Given the description of an element on the screen output the (x, y) to click on. 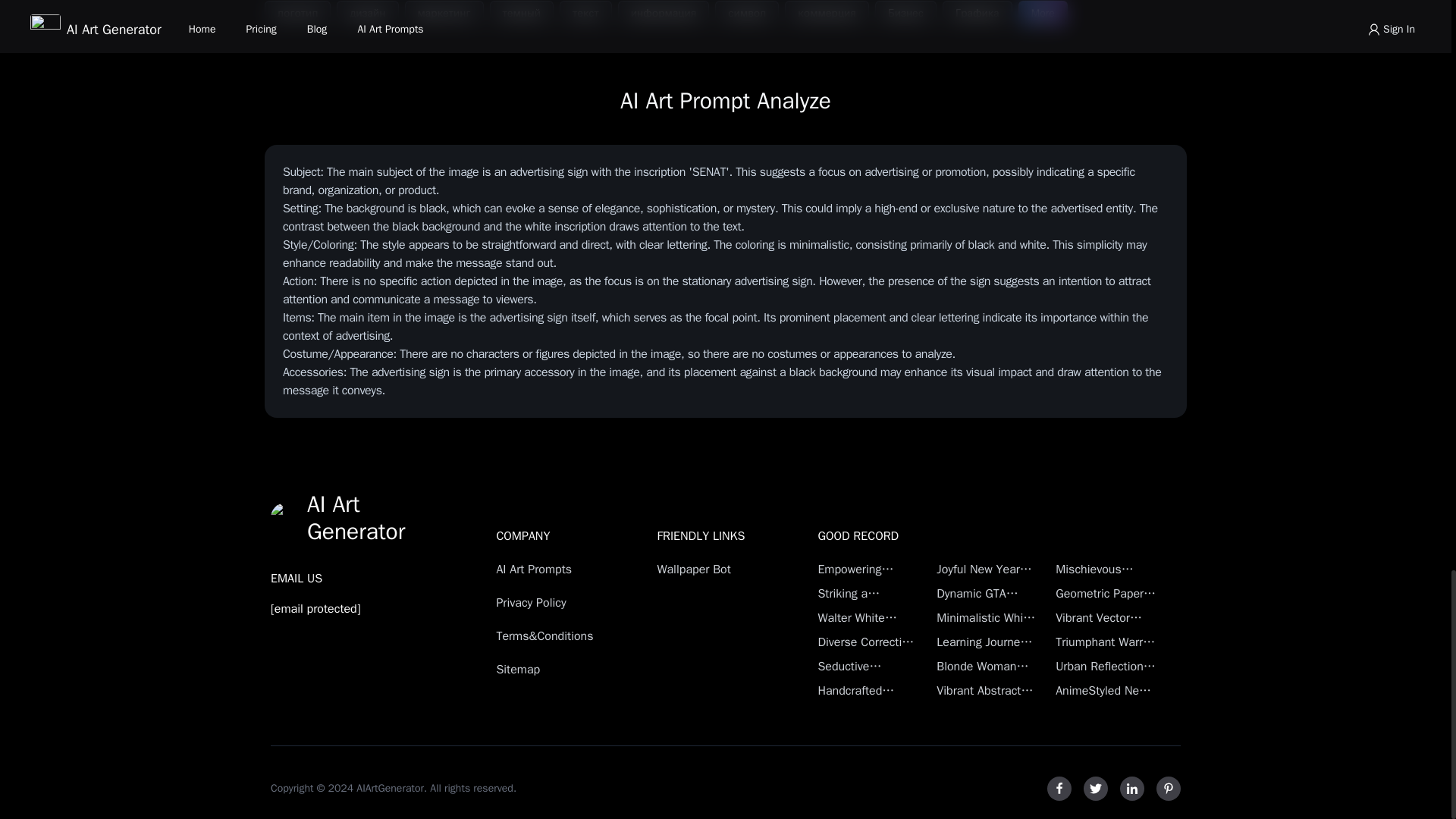
Sitemap (549, 669)
Walter White Drumming with Intensity (867, 618)
Geometric Paper Pyramids Displayed on Table (1105, 593)
Mischievous Raccoon Encounter in HalfLife 2 (1105, 569)
Diverse Correction Class Group Collaborating on Solutions (867, 642)
AI Art Prompts (549, 569)
Privacy Policy (549, 602)
Vibrant Vector Graphics Illustrating Tourist Attractions (1105, 618)
